Given the description of an element on the screen output the (x, y) to click on. 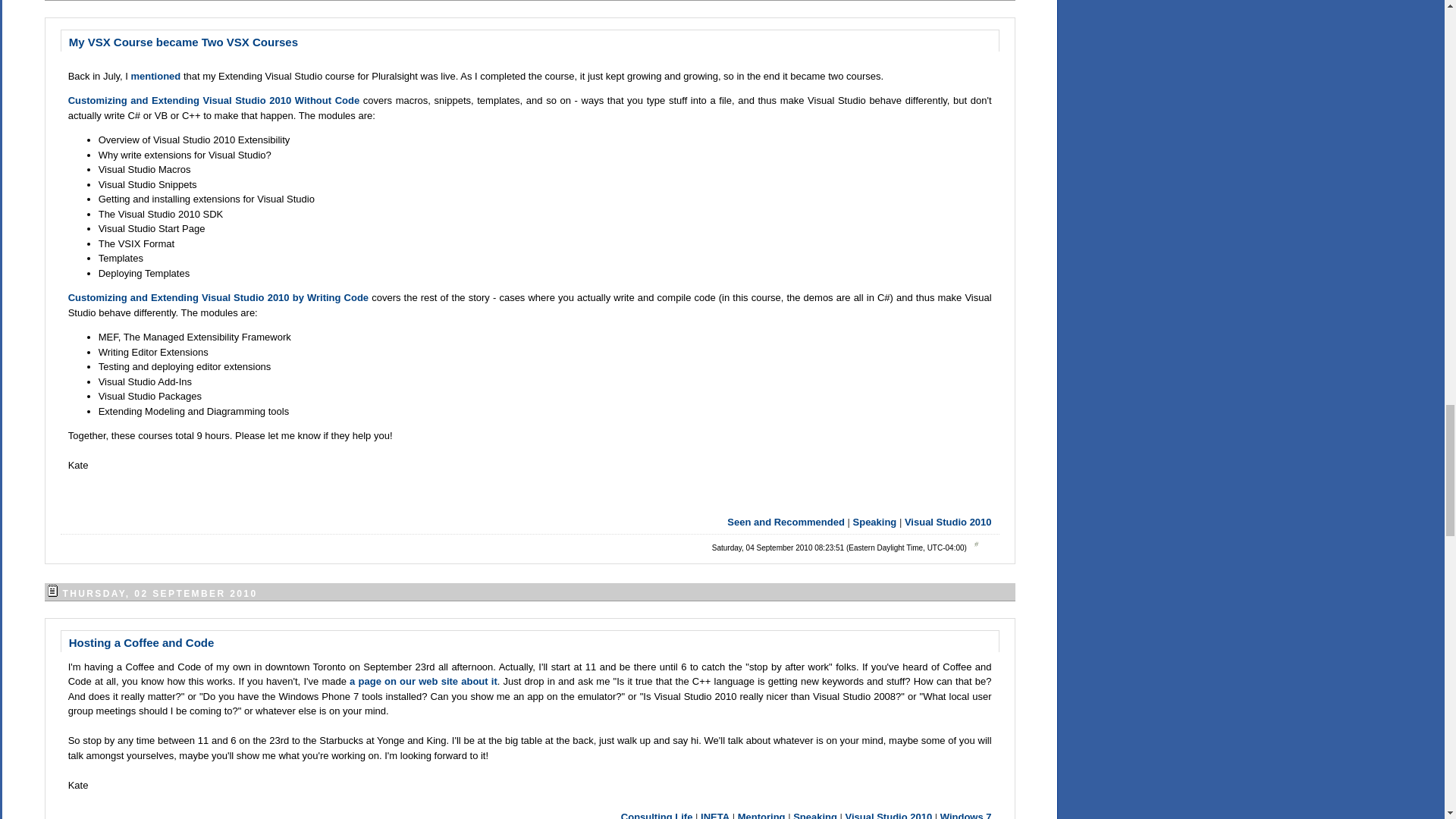
Visual Studio 2010 (889, 815)
Customizing and Extending Visual Studio 2010 Without Code (213, 100)
Hosting a Coffee and Code (141, 641)
Seen and Recommended (785, 521)
My VSX Course became Two VSX Courses (183, 41)
mentioned (157, 75)
Speaking (815, 815)
Customizing and Extending Visual Studio 2010 by Writing Code (218, 297)
Mentoring (762, 815)
Consulting Life (657, 815)
Visual Studio 2010 (947, 521)
a page on our web site about it (423, 681)
Speaking (874, 521)
INETA (714, 815)
